Given the description of an element on the screen output the (x, y) to click on. 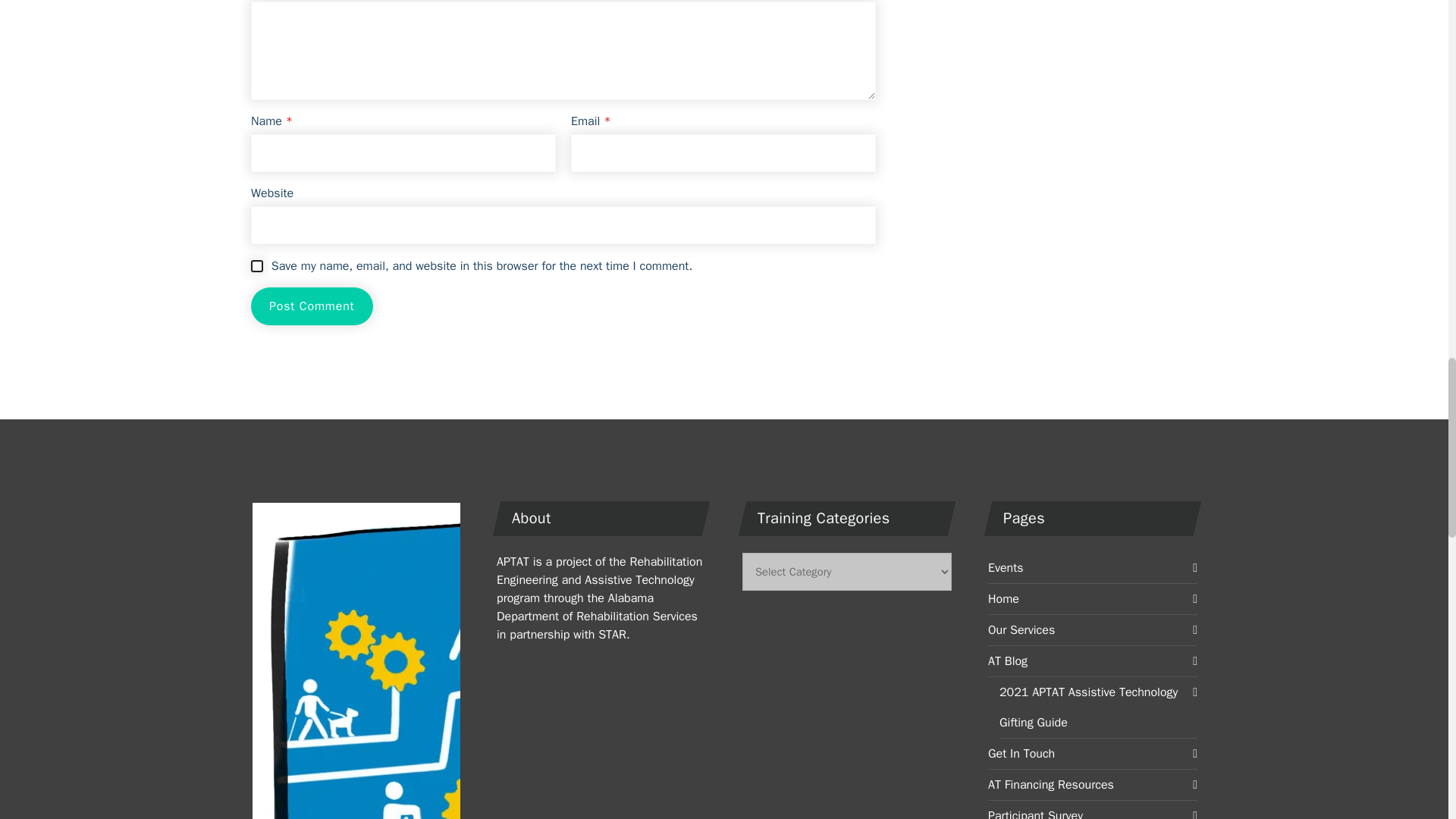
Post Comment (311, 306)
yes (256, 265)
